Given the description of an element on the screen output the (x, y) to click on. 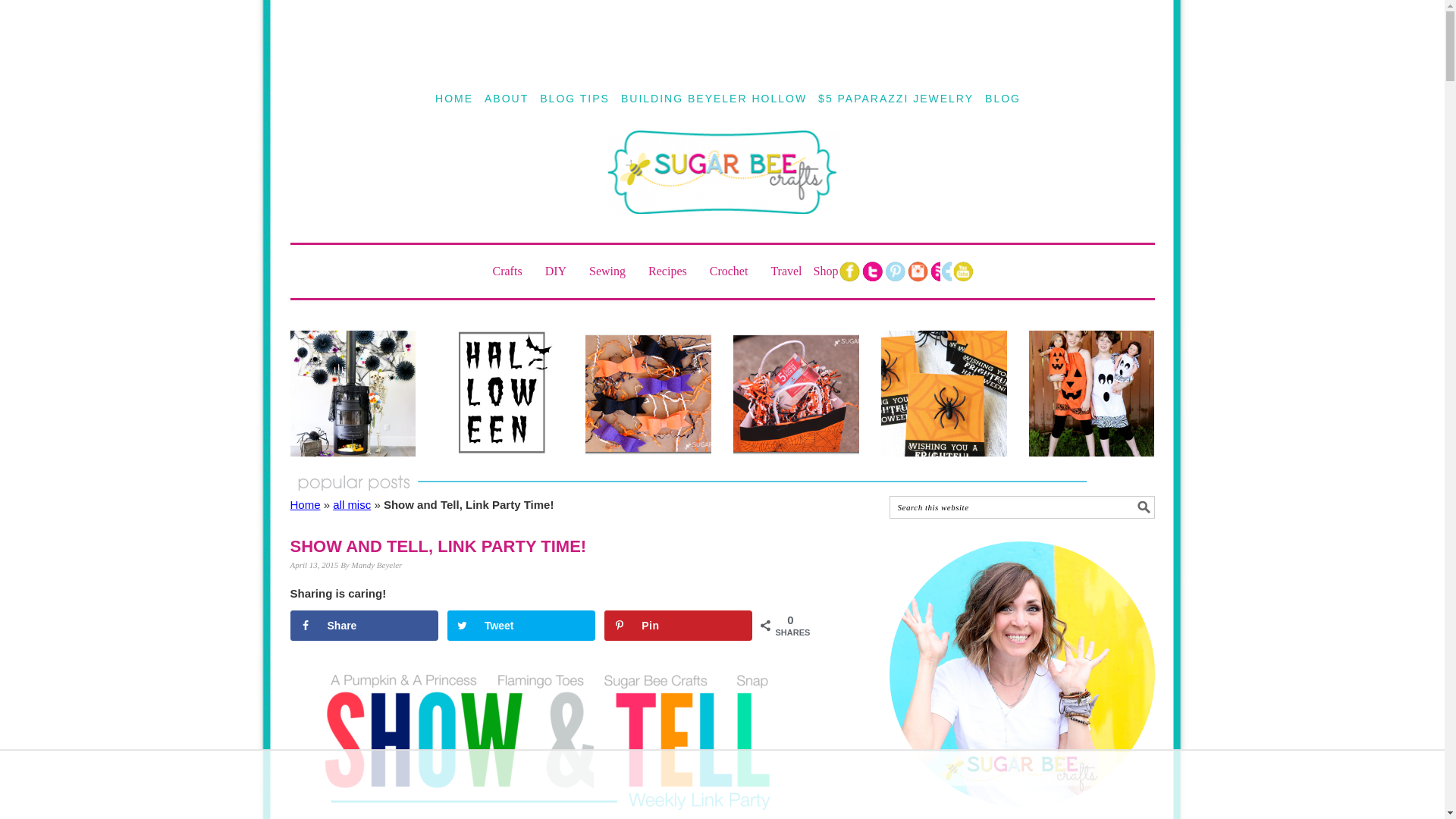
Save to Pinterest (678, 625)
Halloween Mantel Decor Idea (351, 393)
Easy Halloween Felt Bows (648, 393)
Halloween Treat Cards (943, 393)
Recipes (673, 271)
HOME (453, 98)
Travel (785, 271)
ABOUT (506, 98)
Shop (826, 271)
BLOG TIPS (574, 98)
SUGAR BEE CRAFTS (721, 185)
Share on Facebook (363, 625)
DIY (561, 271)
BUILDING BEYELER HOLLOW (714, 98)
Halloween Treats (796, 393)
